Given the description of an element on the screen output the (x, y) to click on. 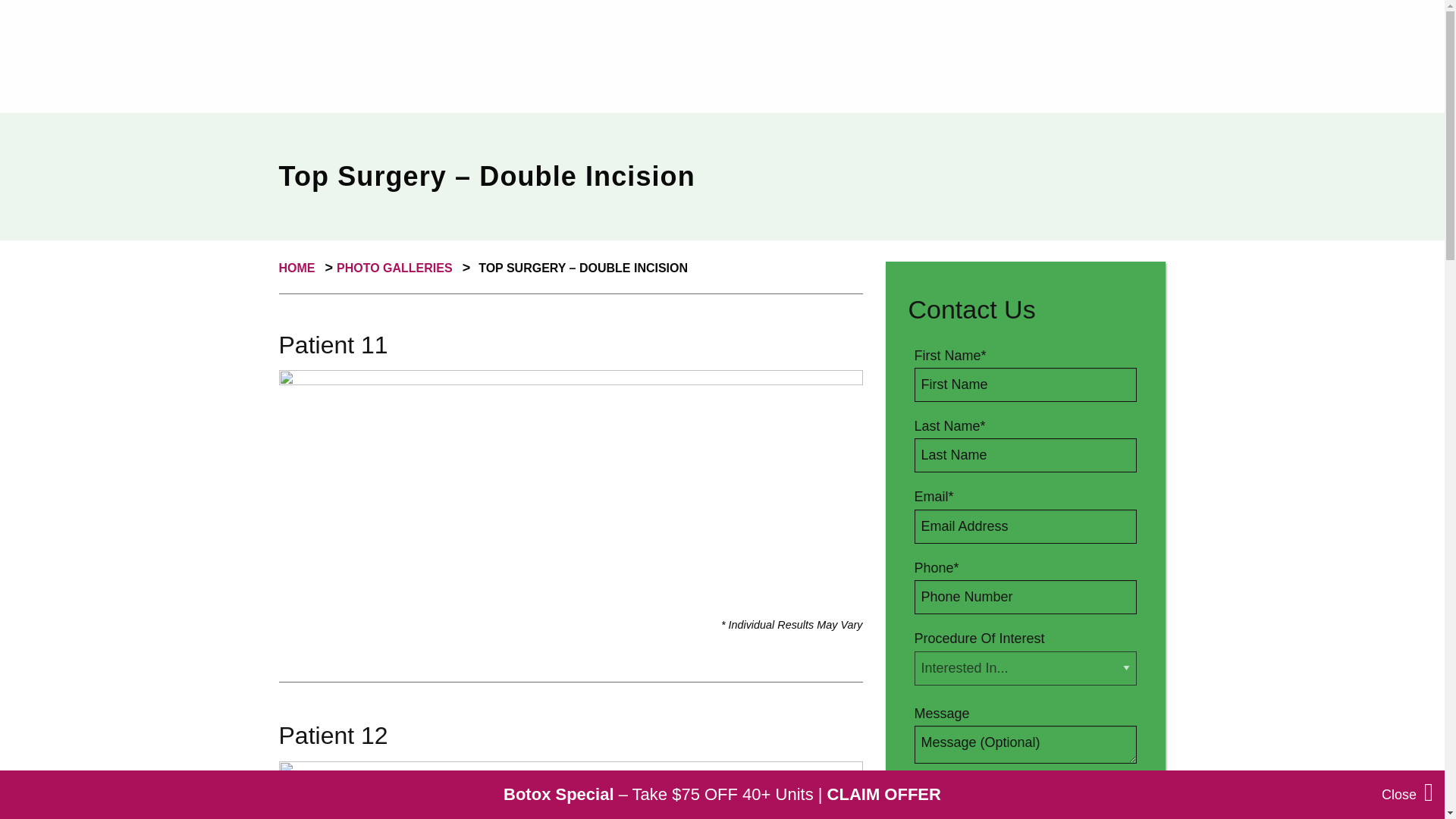
Go to Dr. Lorelei Grunwaldt. (300, 267)
I Accept The Terms And Conditions (933, 789)
Go to Photo Galleries. (397, 267)
Submit (1025, 814)
